Given the description of an element on the screen output the (x, y) to click on. 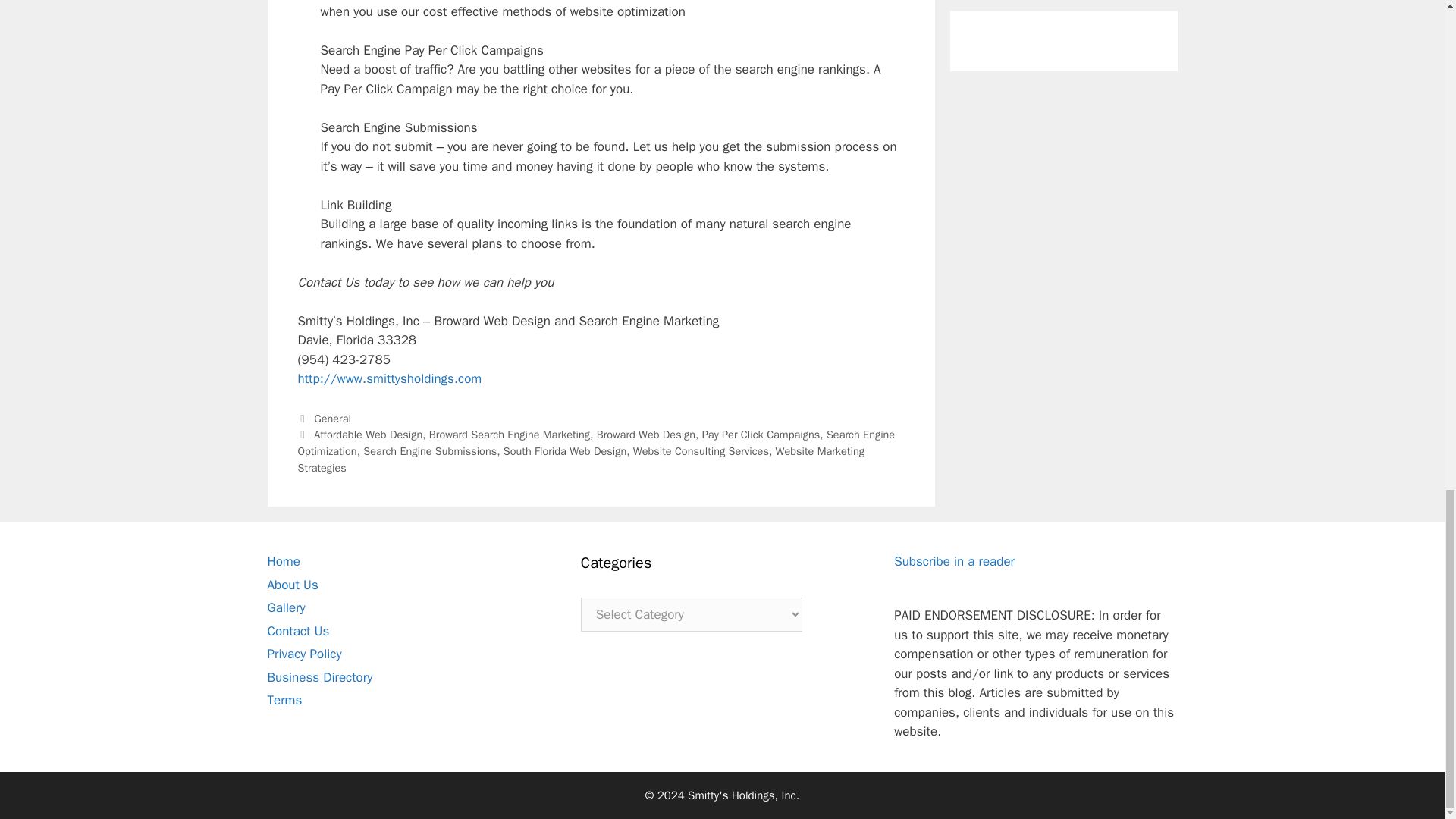
Website Consulting Services (700, 450)
Website Marketing Strategies (580, 459)
Affordable Web Design (368, 434)
Privacy Policy (303, 653)
Search Engine Optimization (596, 442)
South Florida Web Design (564, 450)
Home (282, 561)
Scroll back to top (1406, 304)
Terms (283, 700)
Search Engine Submissions (429, 450)
Broward Search Engine Marketing (509, 434)
Broward Web Design (645, 434)
Contact Us (297, 631)
Business Directory (319, 677)
Pay Per Click Campaigns (760, 434)
